Given the description of an element on the screen output the (x, y) to click on. 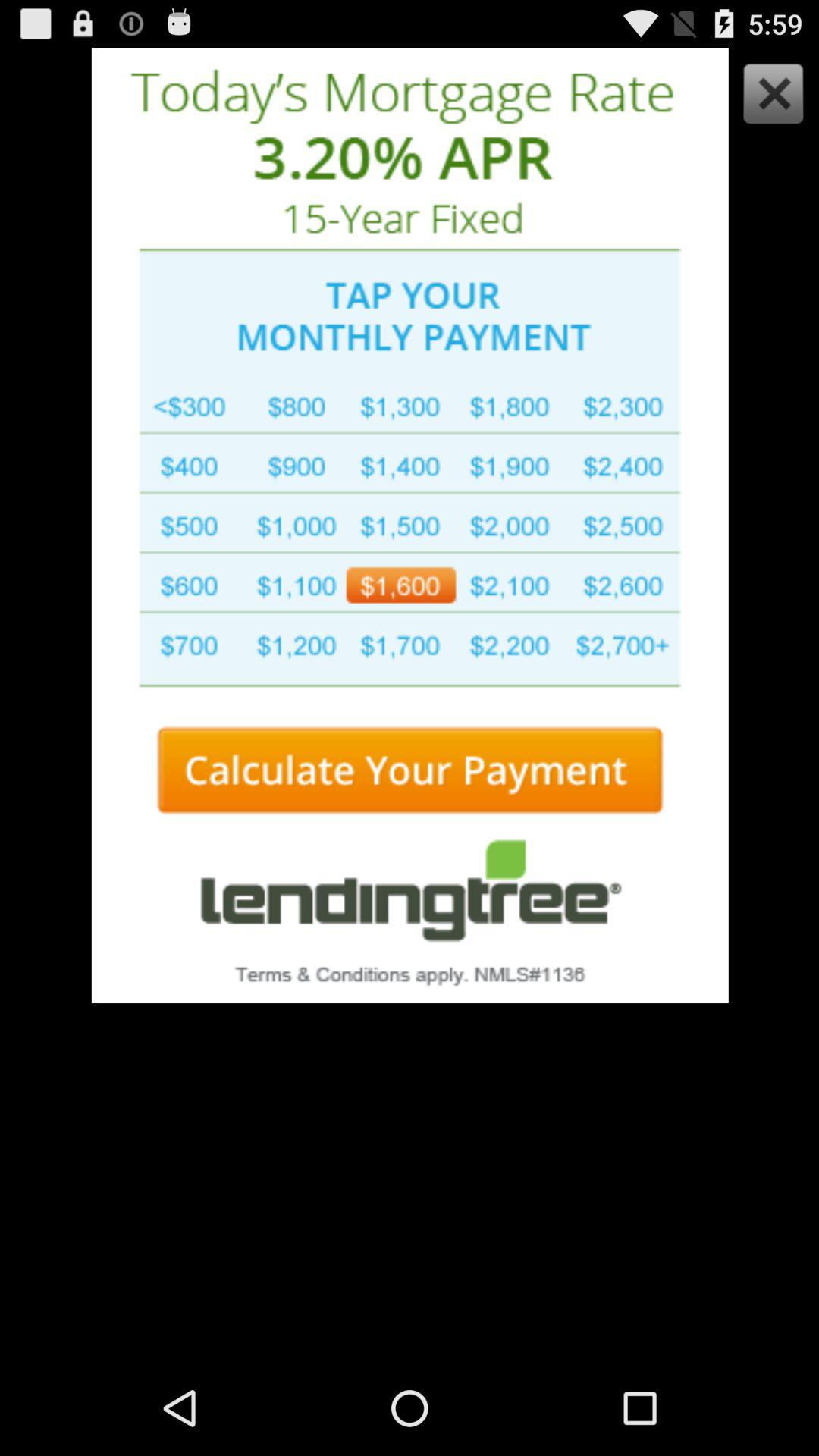
exit advertisement (769, 97)
